Given the description of an element on the screen output the (x, y) to click on. 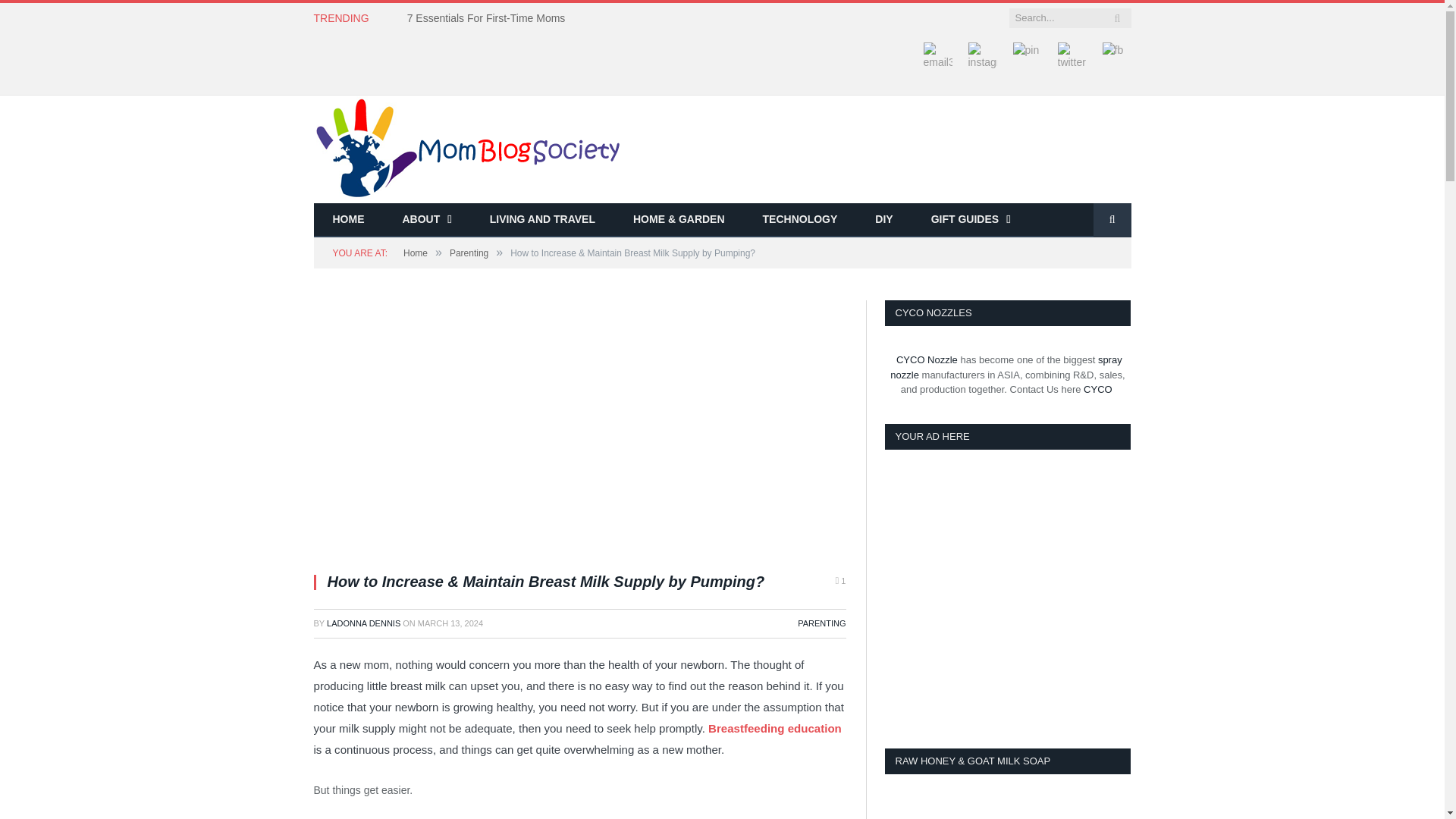
HOME (349, 220)
TECHNOLOGY (800, 220)
7 Essentials For First-Time Moms (490, 18)
ABOUT (427, 220)
GIFT GUIDES (970, 220)
Mom Blog Society (467, 146)
LIVING AND TRAVEL (542, 220)
DIY (883, 220)
7 Essentials For First-Time Moms (490, 18)
